Given the description of an element on the screen output the (x, y) to click on. 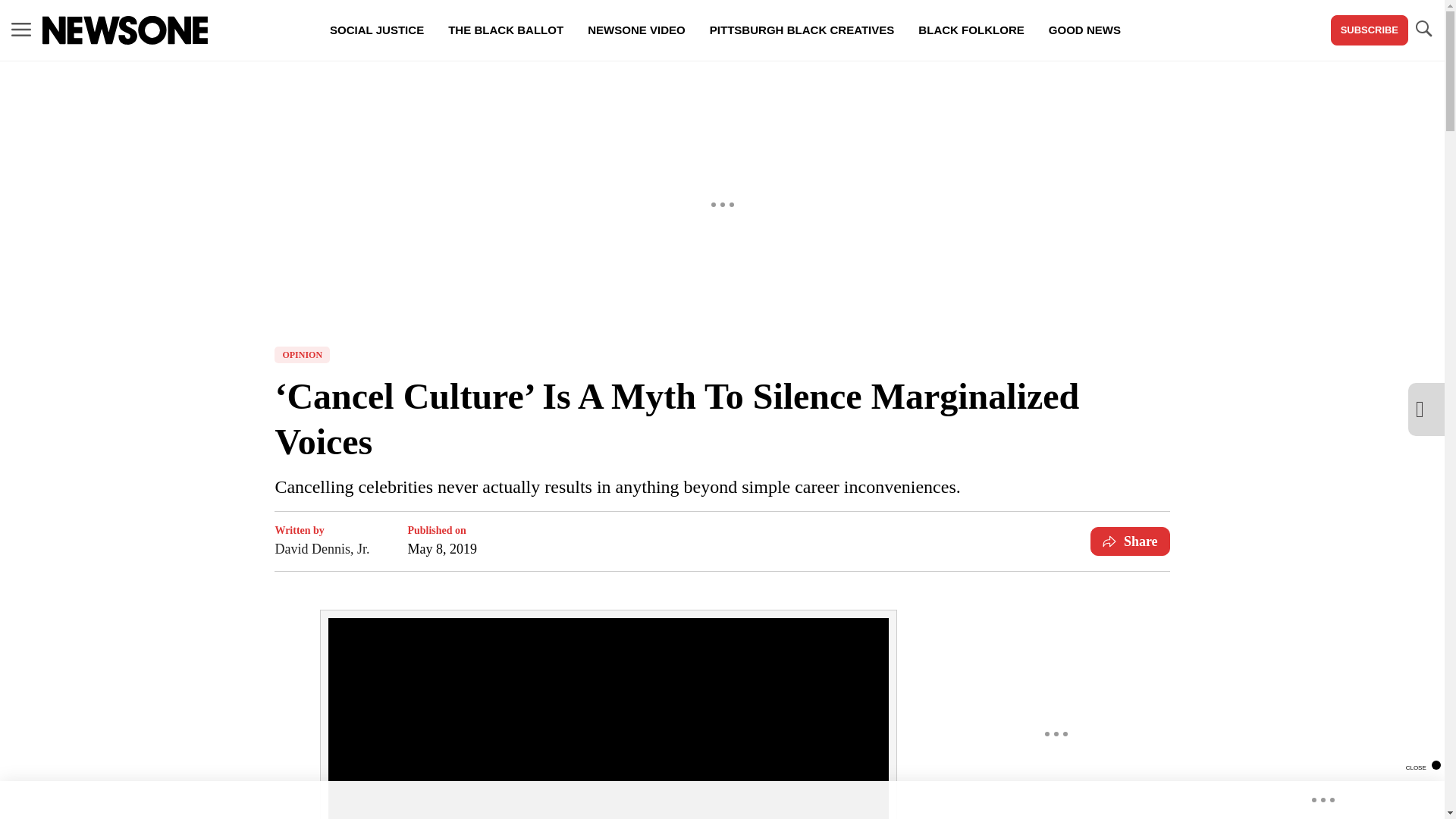
MENU (20, 30)
David Dennis, Jr. (322, 548)
SOCIAL JUSTICE (376, 30)
BLACK FOLKLORE (970, 30)
NEWSONE VIDEO (636, 30)
Share (1130, 541)
SUBSCRIBE (1368, 30)
TOGGLE SEARCH (1422, 30)
PITTSBURGH BLACK CREATIVES (802, 30)
OPINION (302, 354)
